Given the description of an element on the screen output the (x, y) to click on. 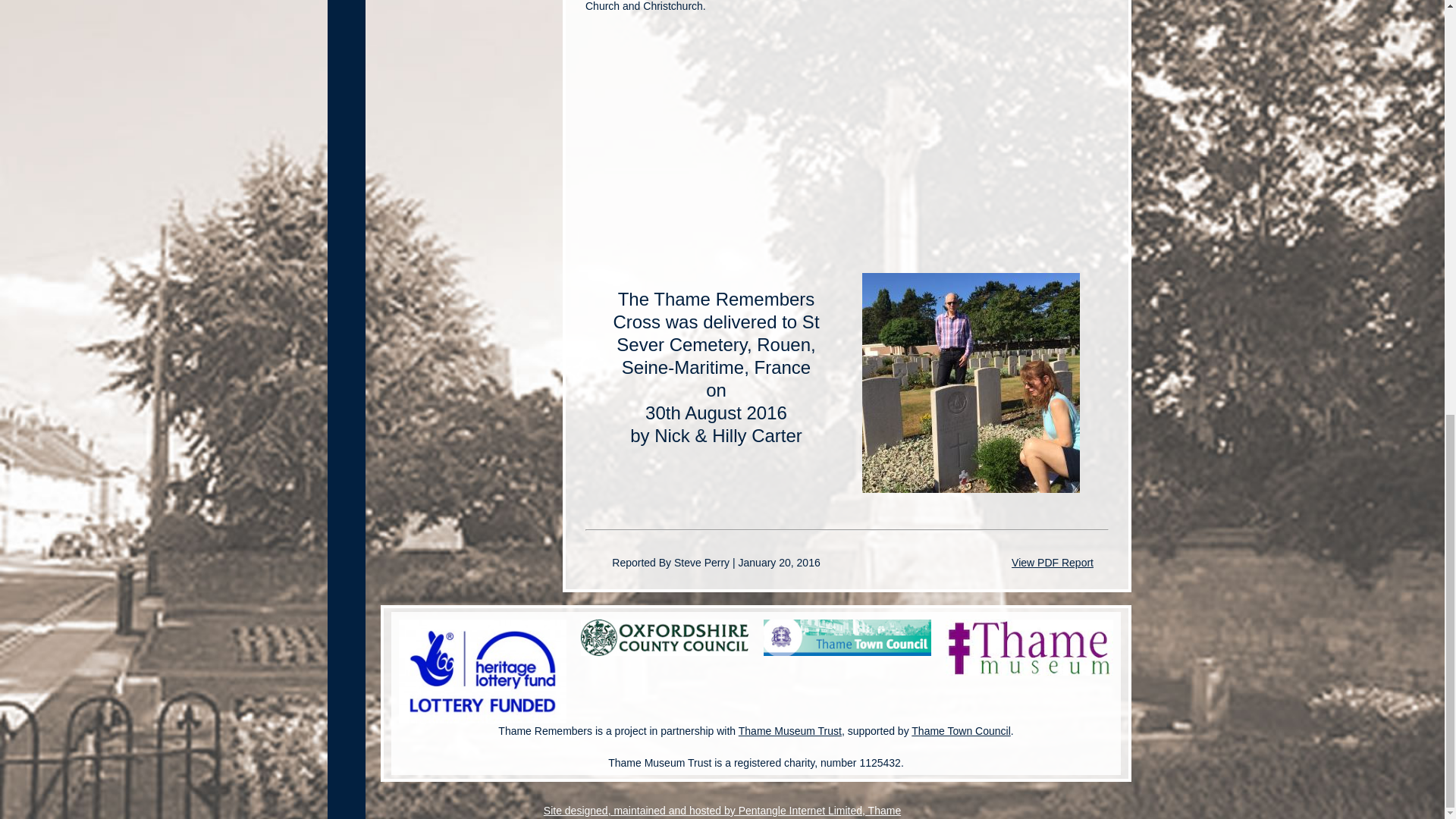
View PDF Report (1052, 562)
Thame Museum Trust (789, 730)
Thame Town Council (960, 730)
